Given the description of an element on the screen output the (x, y) to click on. 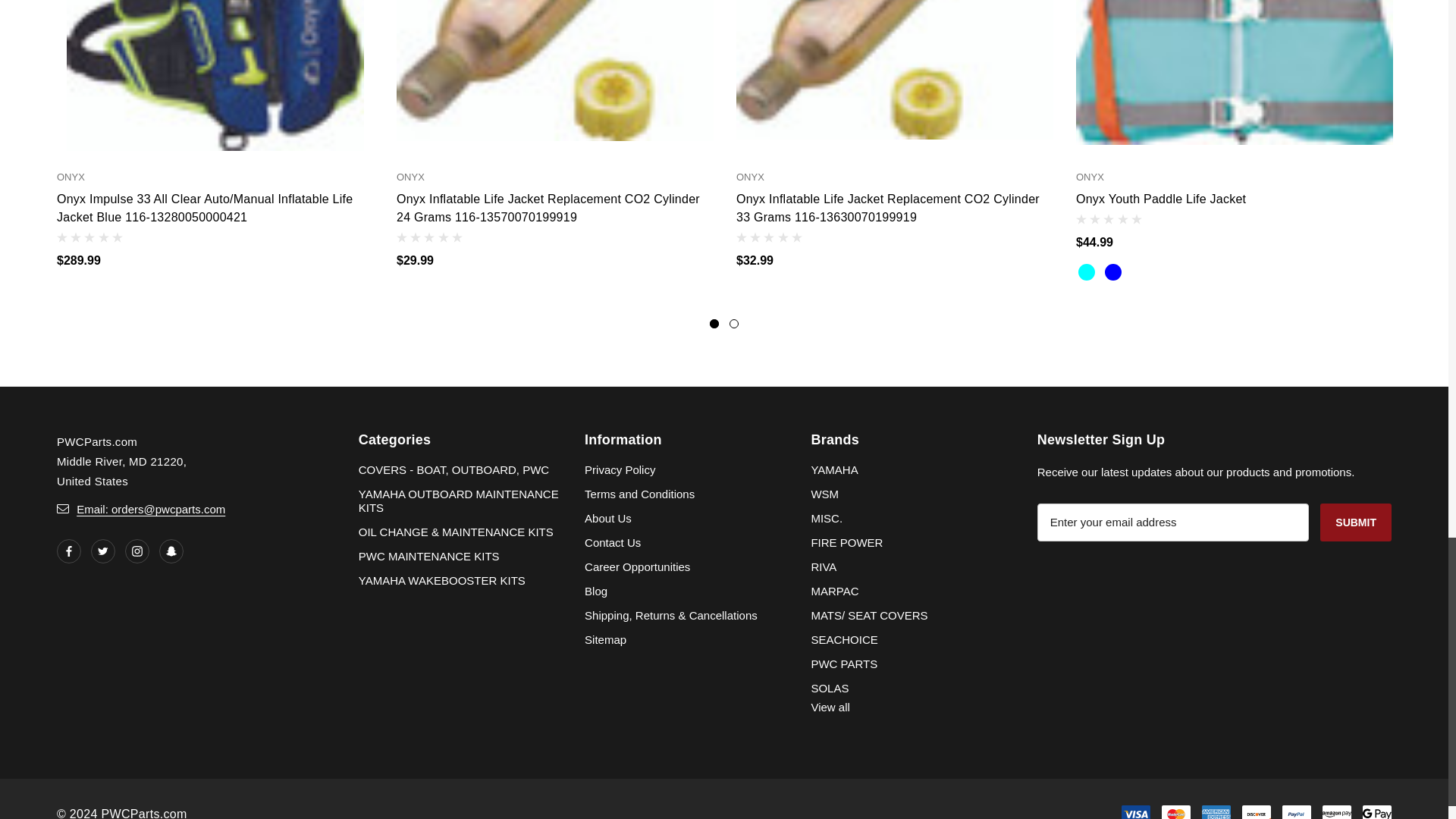
Submit (1355, 522)
